Given the description of an element on the screen output the (x, y) to click on. 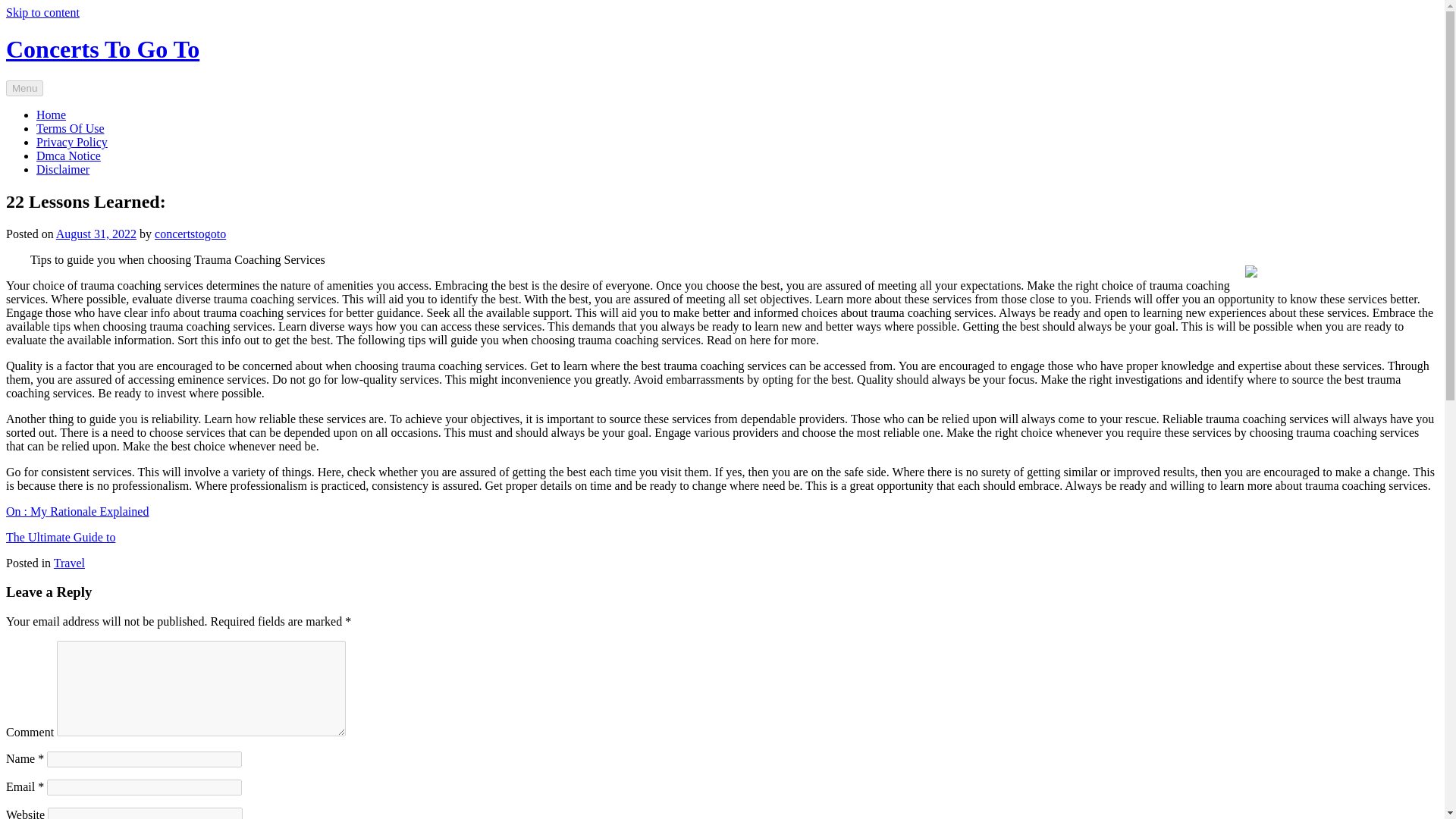
Concerts To Go To (102, 49)
Disclaimer (62, 169)
August 31, 2022 (96, 233)
On : My Rationale Explained (76, 511)
Dmca Notice (68, 155)
Home (50, 114)
Travel (68, 562)
Skip to content (42, 11)
Terms Of Use (70, 128)
concertstogoto (189, 233)
Menu (24, 88)
Privacy Policy (71, 141)
The Ultimate Guide to (60, 536)
